Given the description of an element on the screen output the (x, y) to click on. 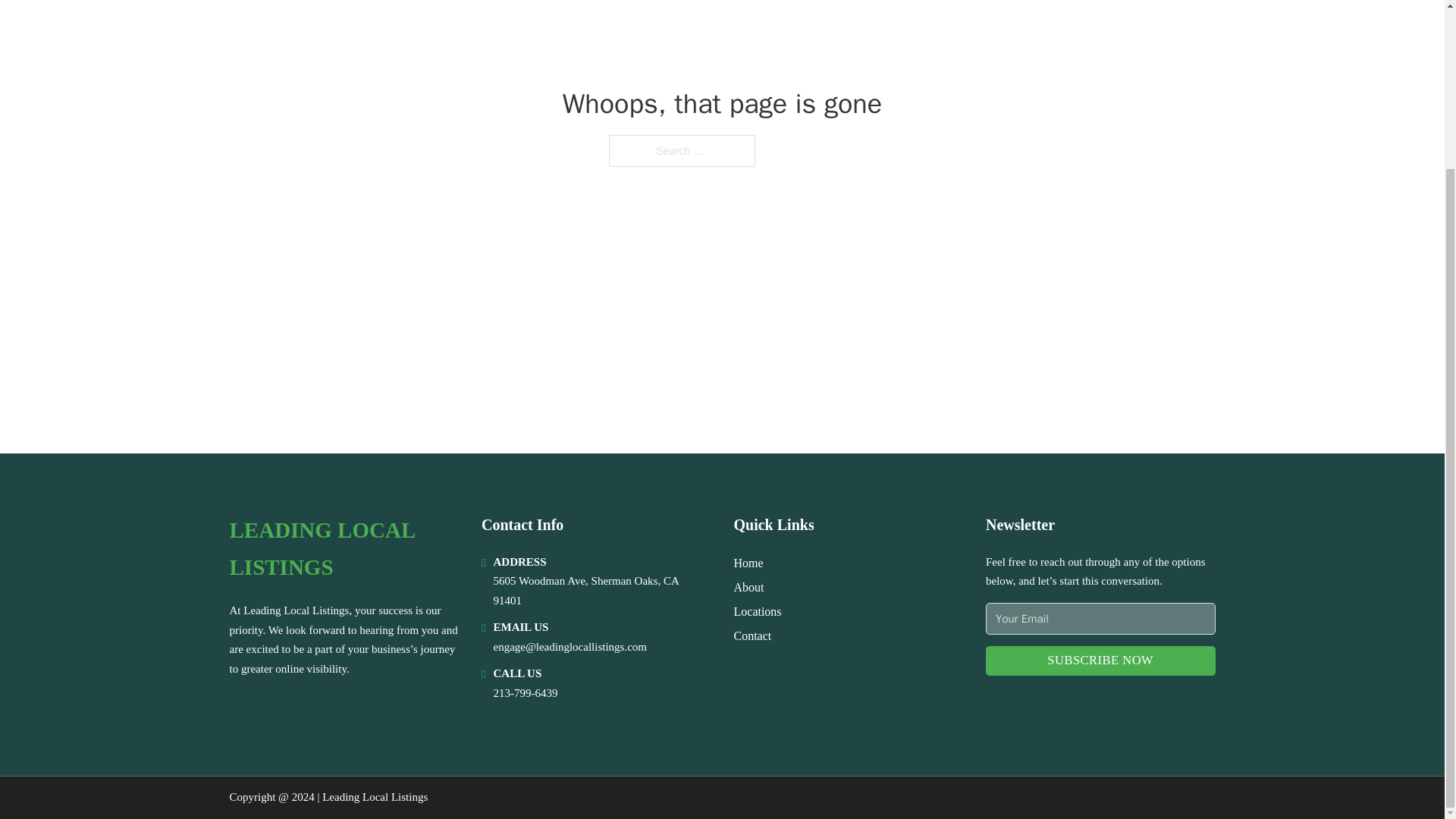
213-799-6439 (525, 693)
Locations (757, 611)
LEADING LOCAL LISTINGS (343, 549)
Contact (752, 635)
About (748, 587)
SUBSCRIBE NOW (1100, 660)
Home (747, 562)
